Given the description of an element on the screen output the (x, y) to click on. 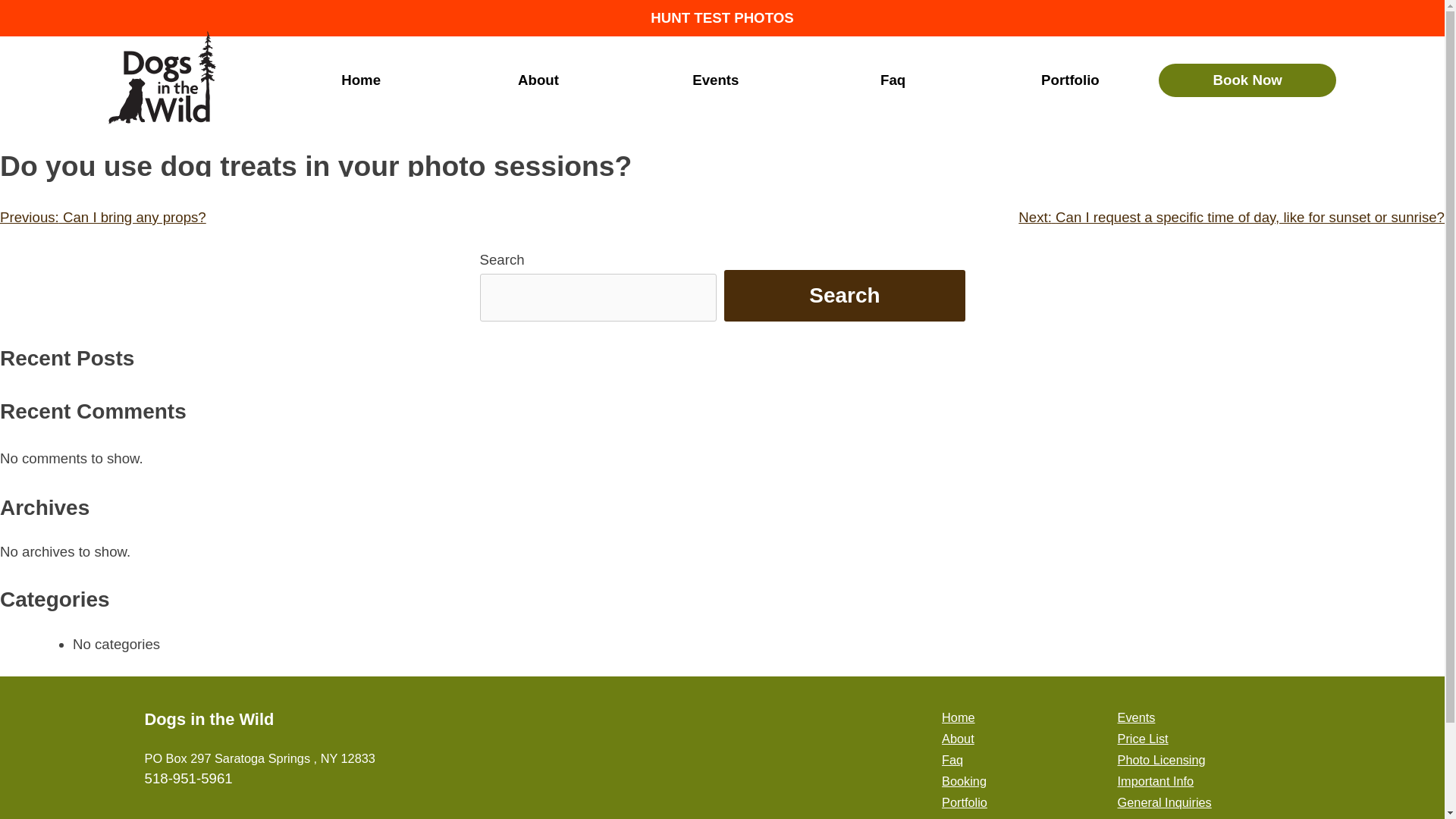
Previous: Can I bring any props? (103, 217)
Events (716, 80)
Booking (964, 780)
Home (958, 716)
Photo Licensing (1161, 759)
About (958, 738)
Important Info (1155, 780)
Portfolio (964, 802)
Portfolio (1069, 80)
General Inquiries (1164, 802)
